Given the description of an element on the screen output the (x, y) to click on. 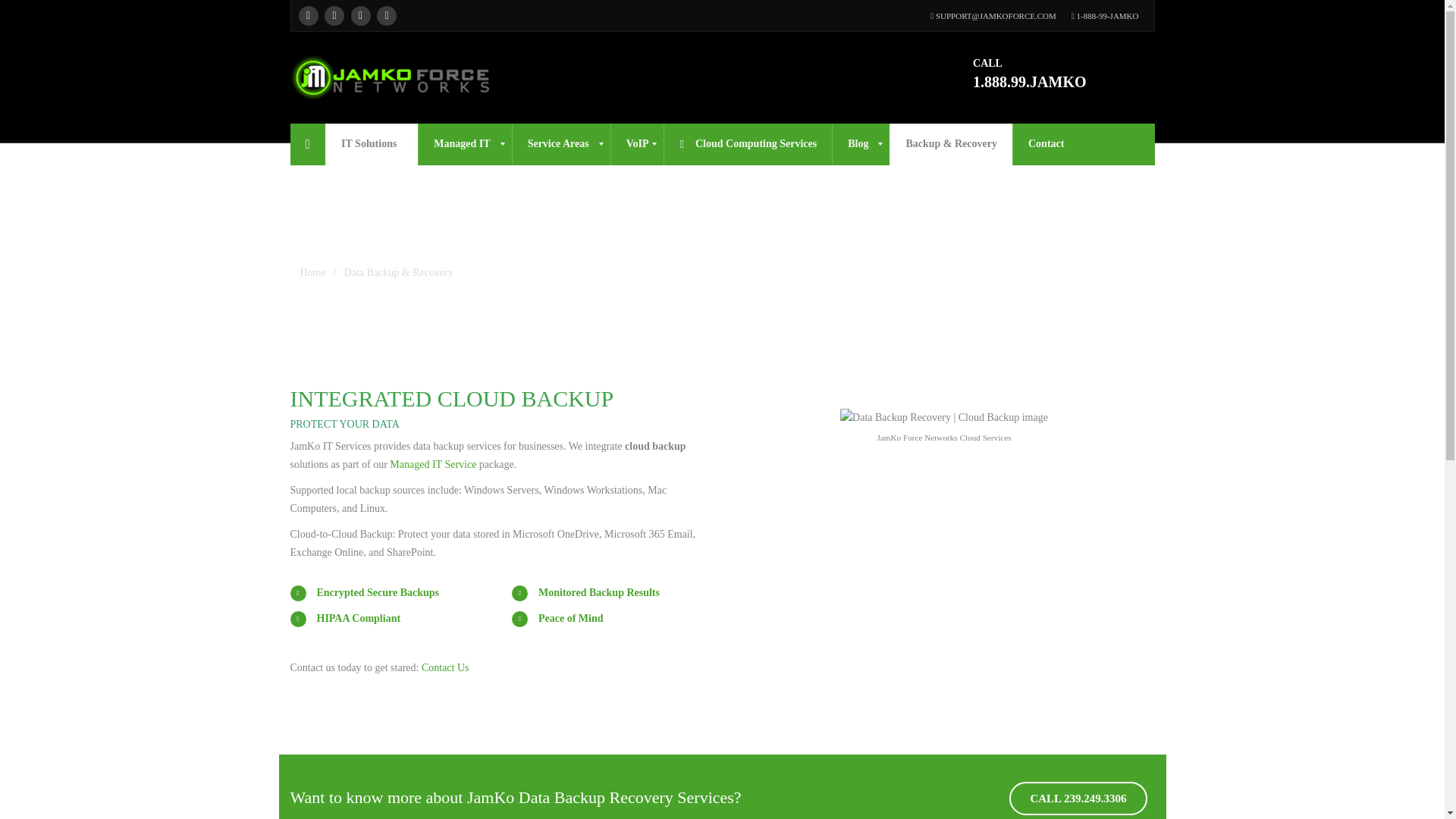
IT Solutions (370, 144)
Twitter (333, 15)
1.888.99.JAMKO (1029, 81)
Blog (860, 144)
Cloud Computing Services (747, 144)
Service Areas (561, 144)
Managed IT (464, 144)
Email (386, 15)
LinkedIn (359, 15)
VoIP (636, 144)
